Given the description of an element on the screen output the (x, y) to click on. 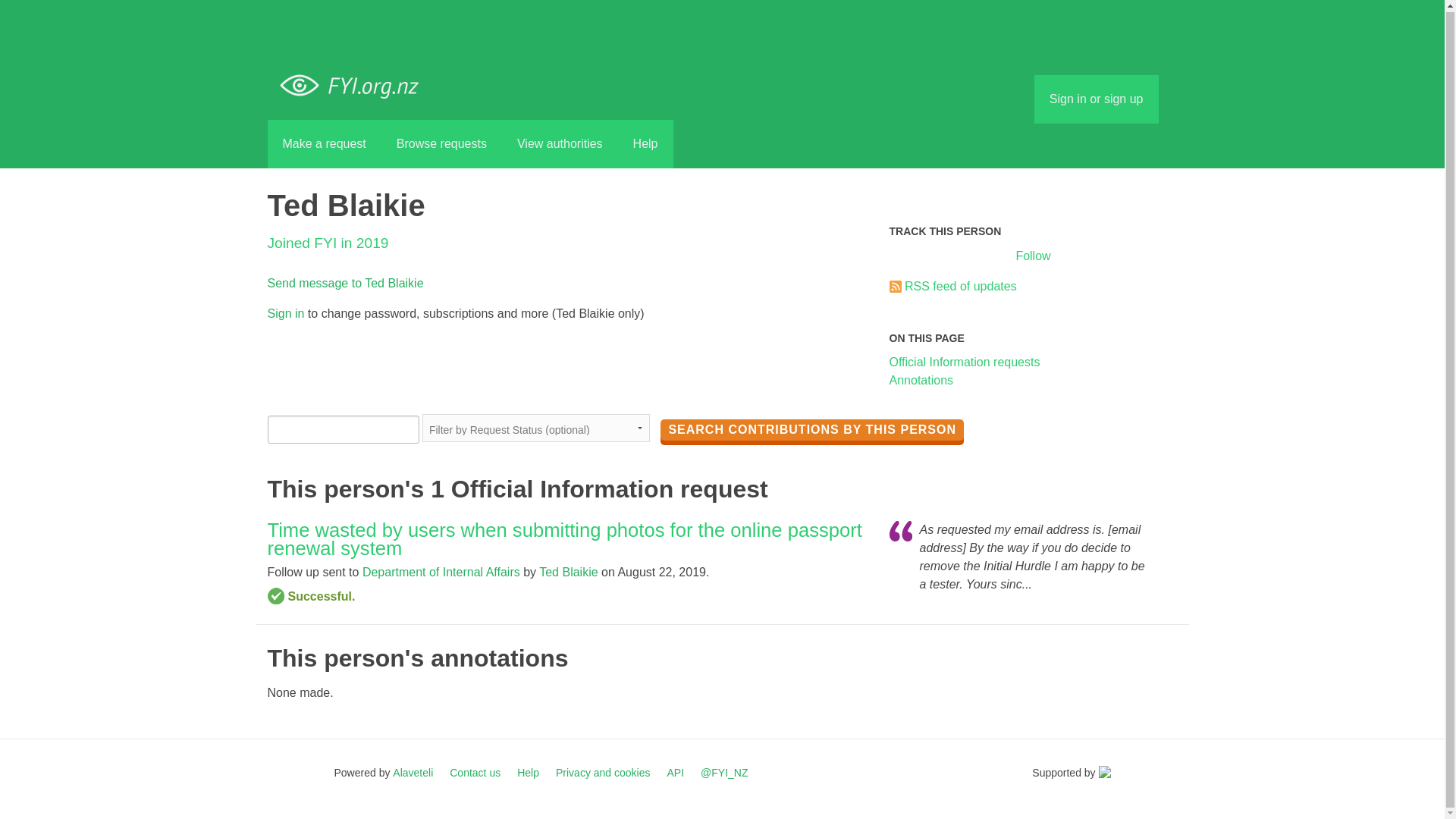
API (675, 772)
FYI (354, 85)
Ted Blaikie (567, 571)
Search contributions by this person (812, 429)
Sign in or sign up (1095, 99)
Browse requests (441, 143)
Help (527, 772)
Privacy and cookies (603, 772)
Contact us (474, 772)
Make a request (323, 143)
